Given the description of an element on the screen output the (x, y) to click on. 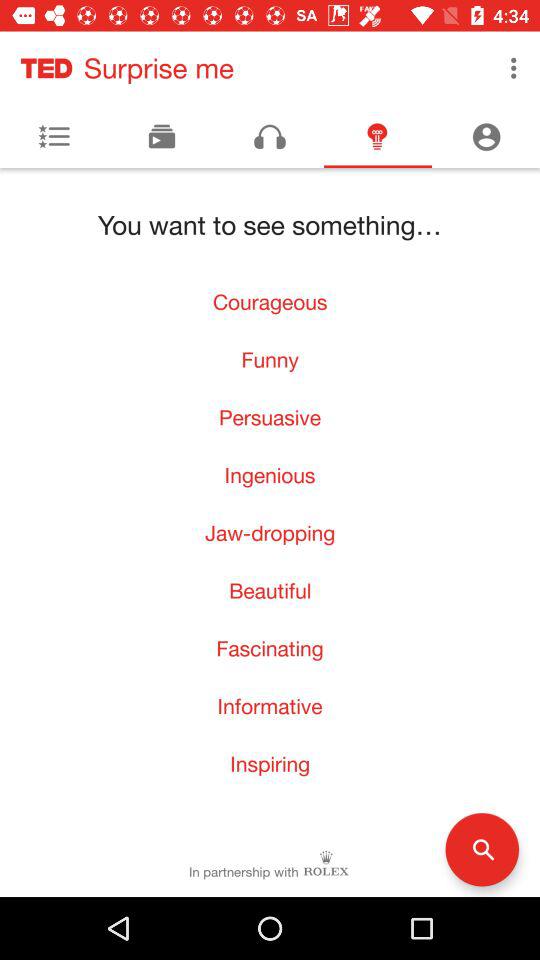
turn on persuasive item (270, 417)
